Given the description of an element on the screen output the (x, y) to click on. 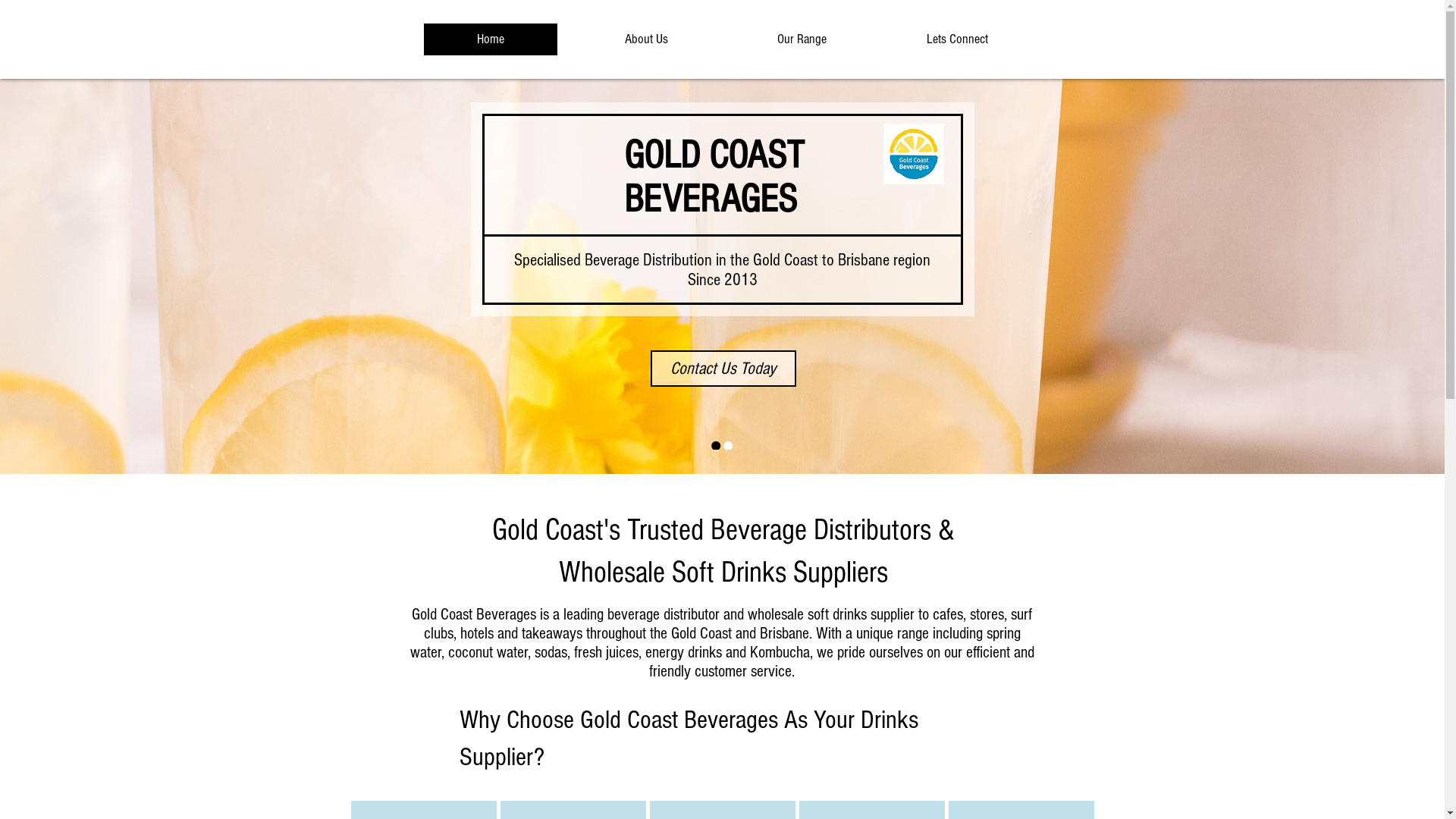
Lets Connect Element type: text (956, 39)
About Us Element type: text (645, 39)
Home Element type: text (489, 39)
Contact Us Today Element type: text (723, 368)
